Given the description of an element on the screen output the (x, y) to click on. 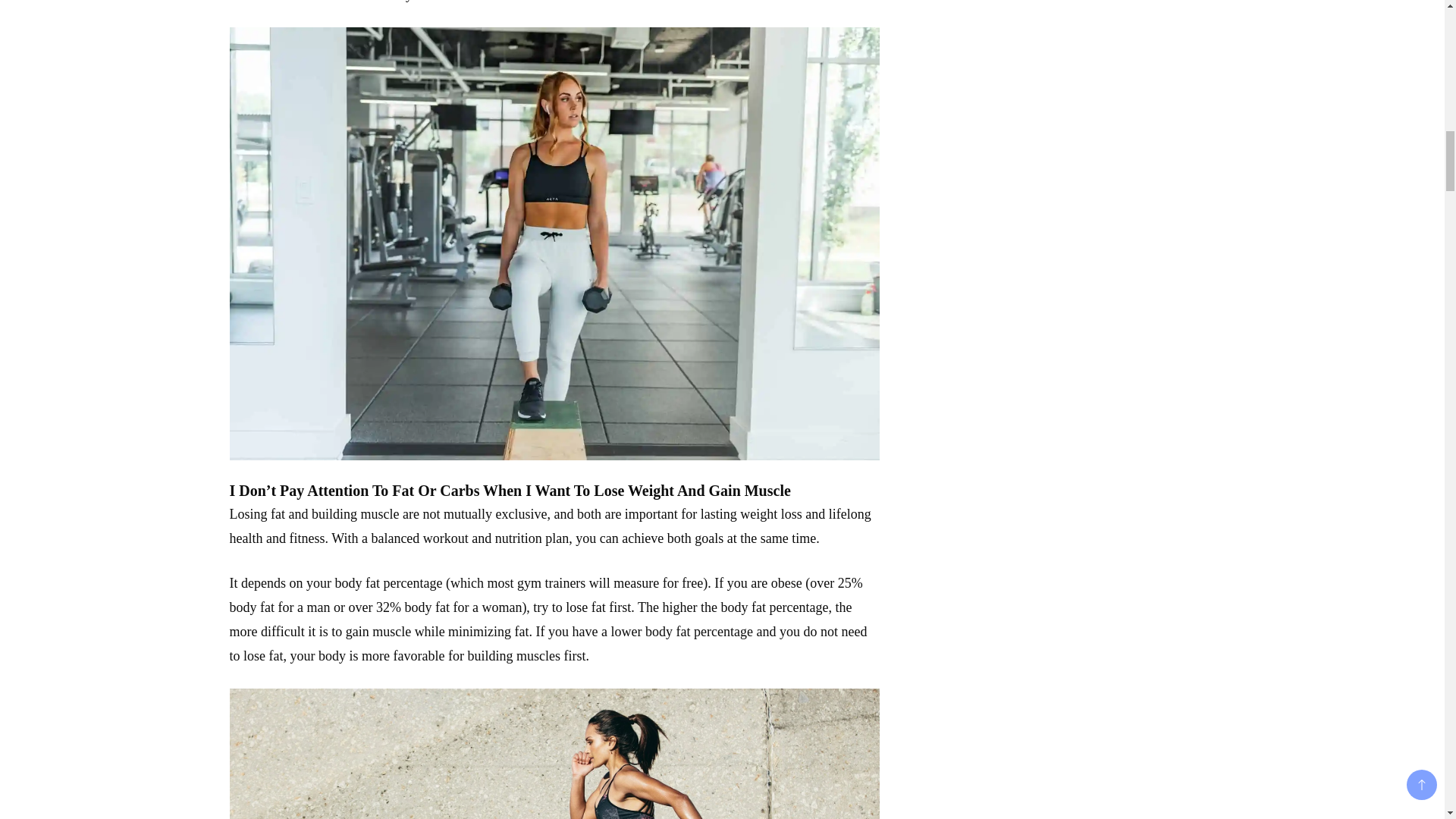
How To Lose Weight And Gain Muscle (553, 753)
